Given the description of an element on the screen output the (x, y) to click on. 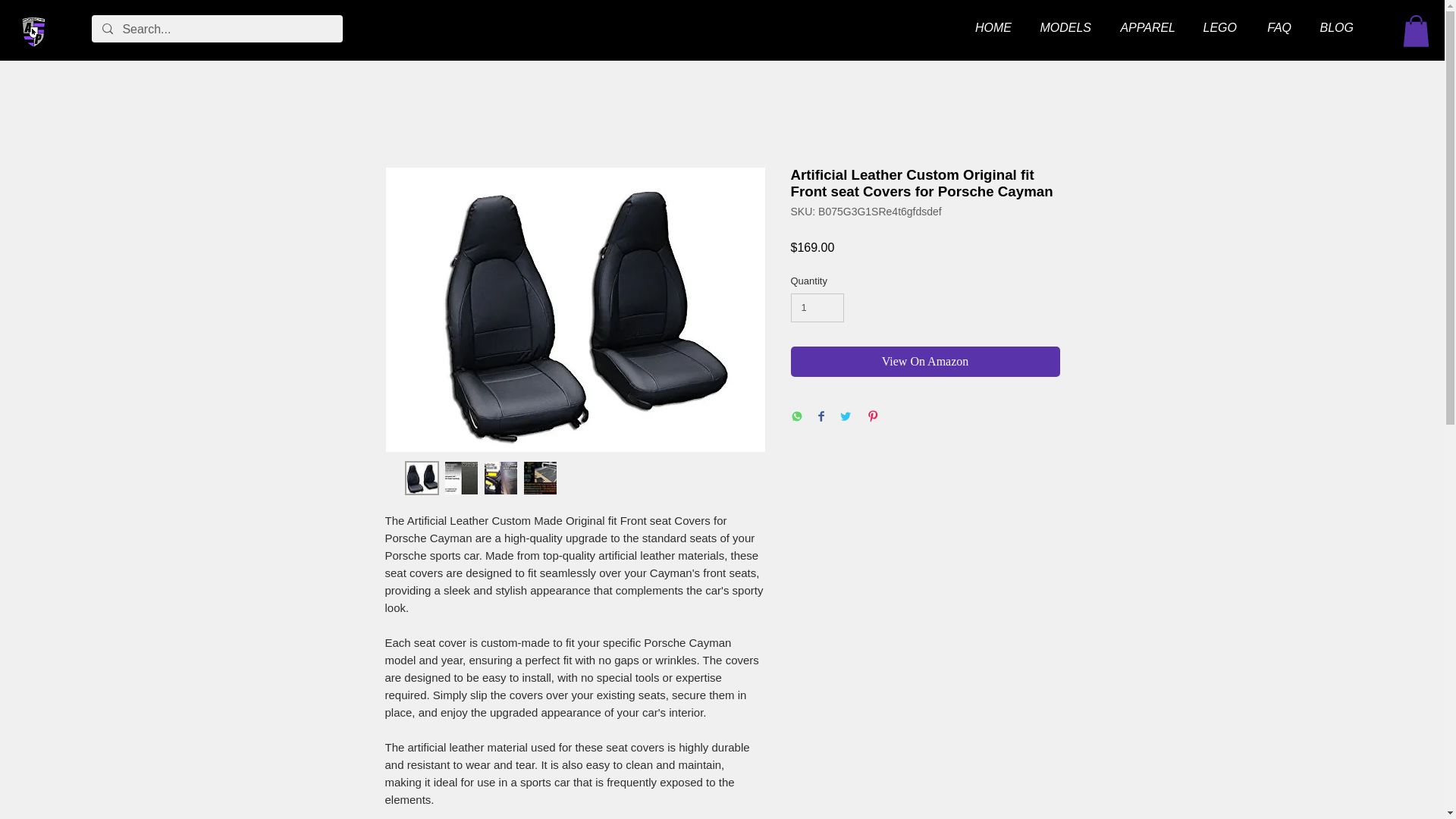
View On Amazon (924, 361)
APPAREL (1144, 27)
BLOG (1334, 27)
HOME (989, 27)
MODELS (1062, 27)
1 (817, 307)
LEGO (1216, 27)
FAQ (1275, 27)
